Given the description of an element on the screen output the (x, y) to click on. 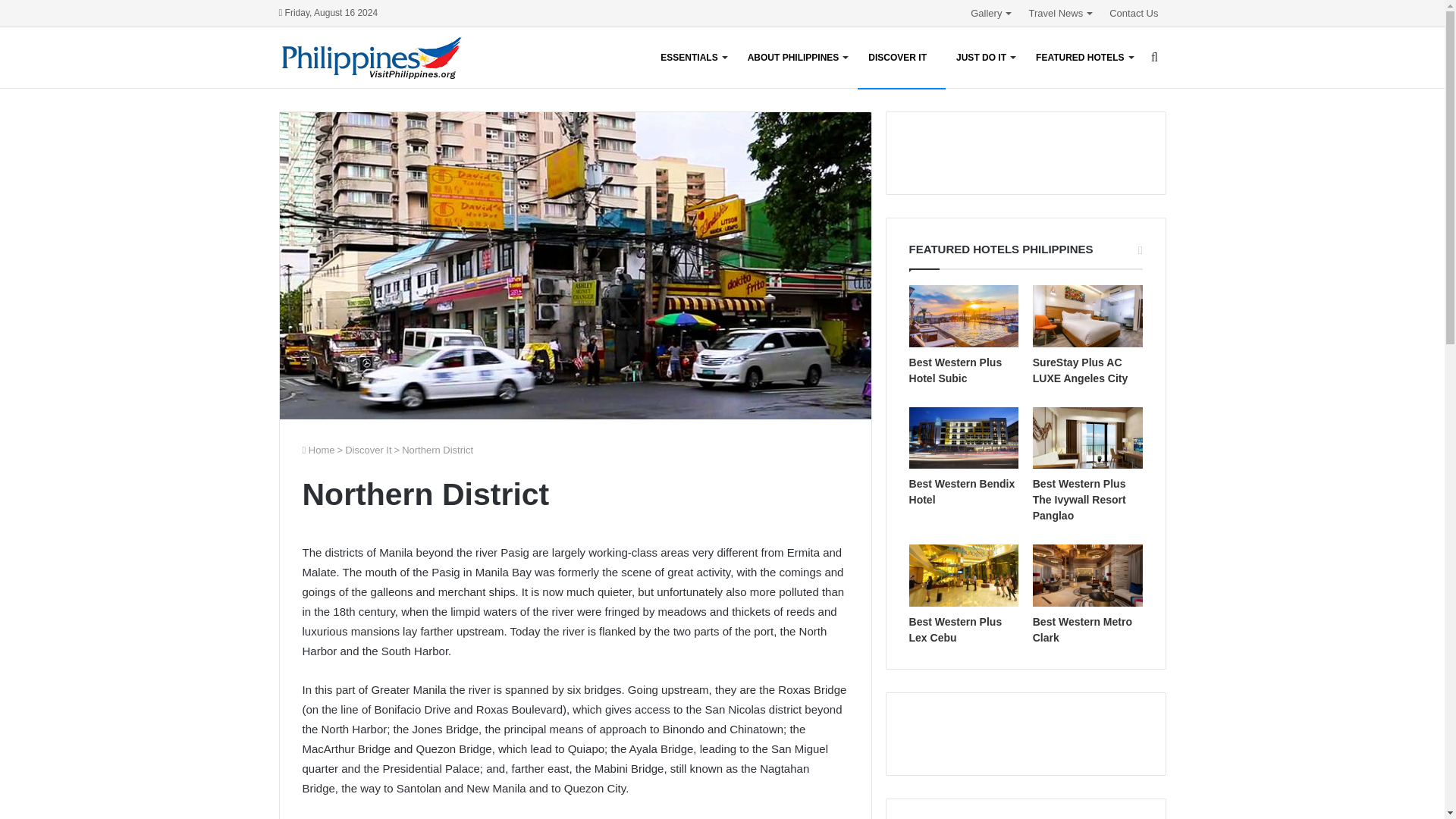
ESSENTIALS (692, 57)
Tourism Sri Lanka (371, 57)
Contact Us (1134, 13)
ABOUT PHILIPPINES (797, 57)
Travel News (1061, 13)
Gallery (991, 13)
